Given the description of an element on the screen output the (x, y) to click on. 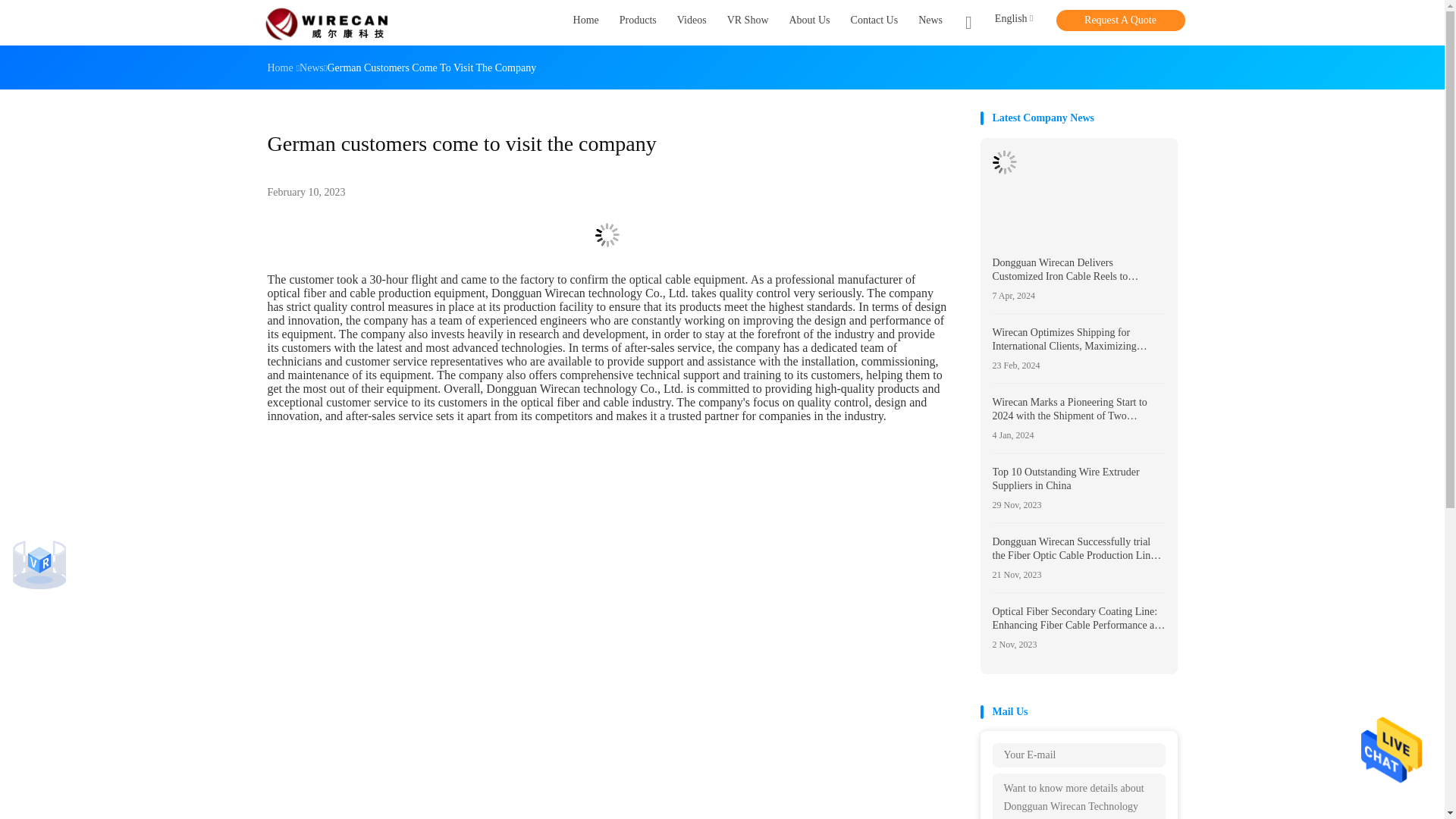
Home (585, 22)
About Us (809, 22)
Dongguan Wirecan Technology Co.,Ltd. (326, 22)
Products (638, 22)
News (930, 22)
VR Show (747, 22)
Videos (691, 22)
Contact Us (874, 22)
